Given the description of an element on the screen output the (x, y) to click on. 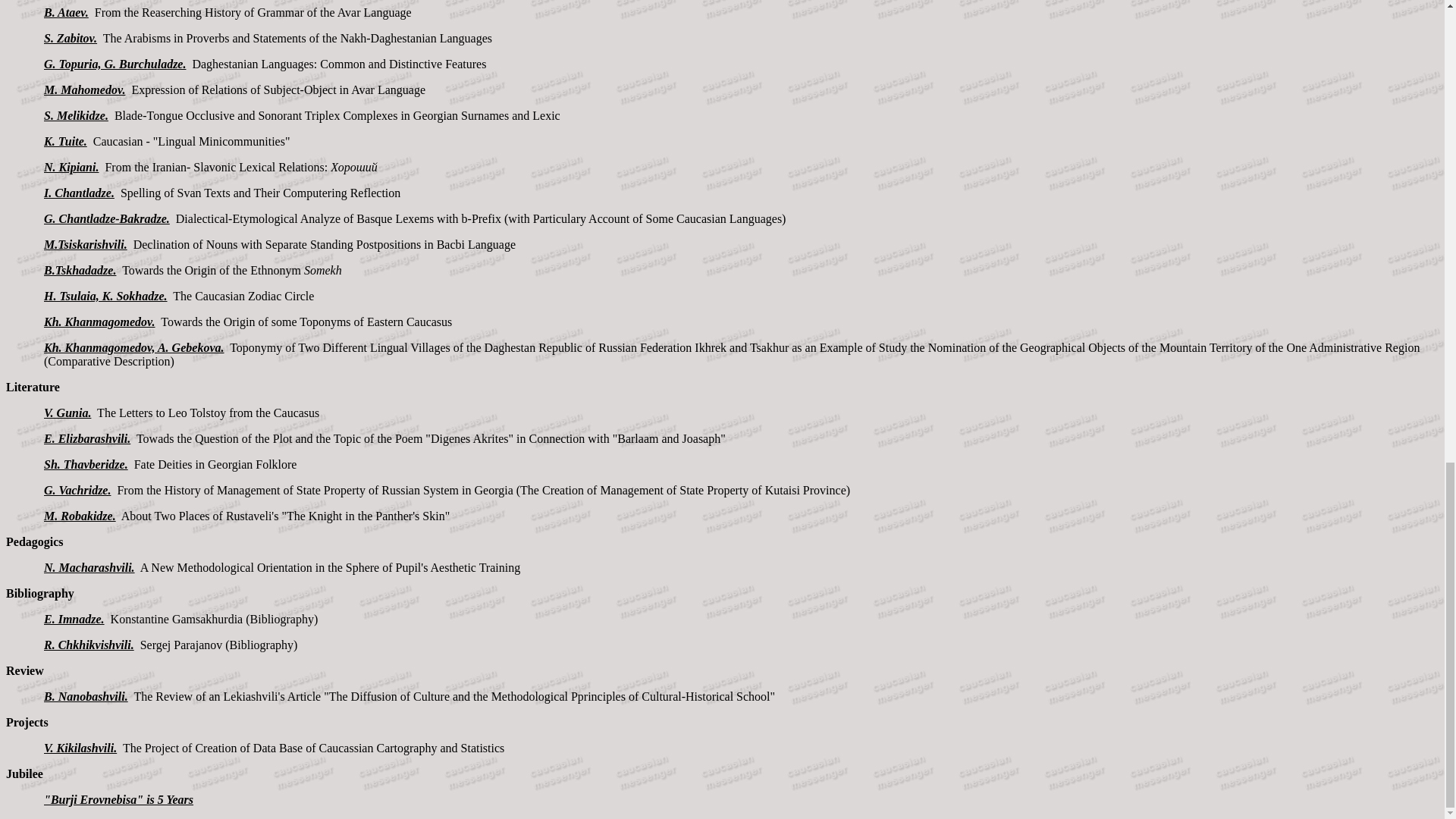
G. Topuria, G. Burchuladze. (114, 63)
S. Melikidze. (75, 115)
M. Mahomedov. (84, 89)
N. Kipiani. (71, 166)
S. Zabitov. (70, 38)
B. Ataev. (65, 11)
K. Tuite. (65, 141)
